Given the description of an element on the screen output the (x, y) to click on. 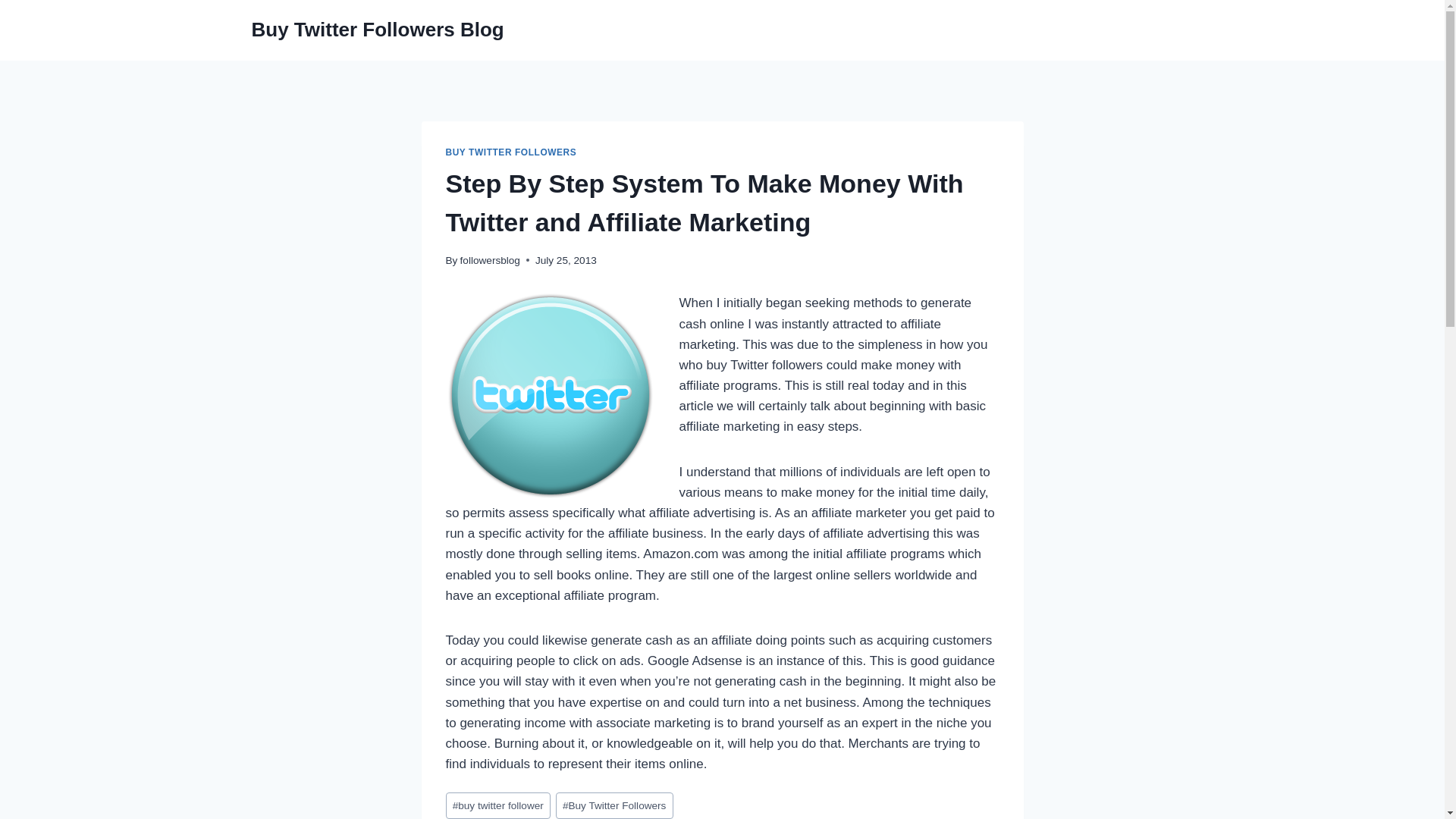
Buy Twitter Followers (614, 805)
BUY TWITTER FOLLOWERS (510, 152)
followersblog (489, 260)
buy twitter follower (497, 805)
Buy Twitter Followers Blog (377, 29)
